Given the description of an element on the screen output the (x, y) to click on. 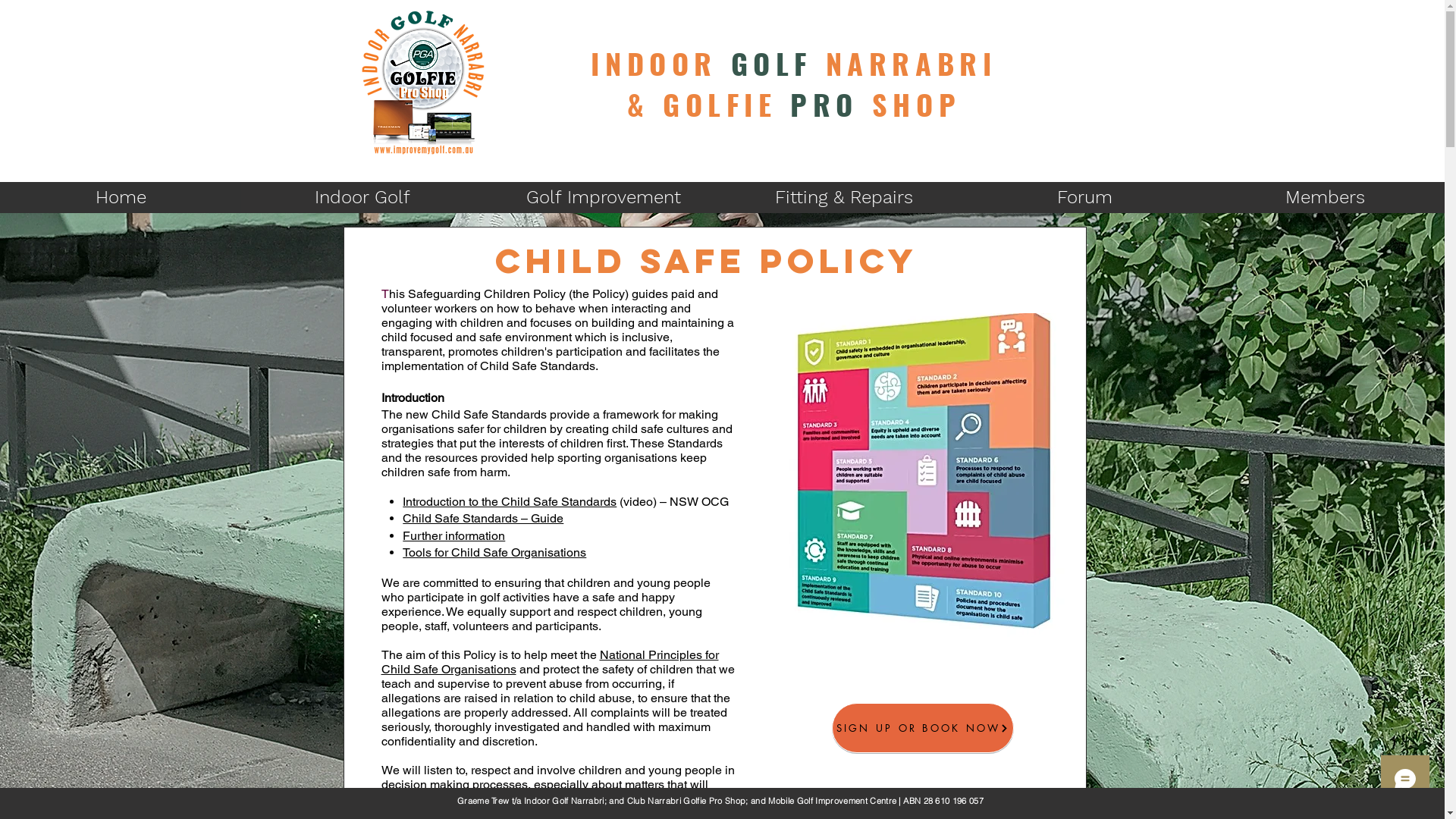
Members Element type: text (1324, 197)
Further information Element type: text (453, 535)
National Principles for Child Safe Organisations Element type: text (549, 661)
Introduction to the Child Safe Standards Element type: text (509, 501)
Tools for Child Safe Organisations Element type: text (494, 552)
Forum Element type: text (1083, 197)
SIGN UP OR BOOK NOW Element type: text (922, 727)
Home Element type: text (120, 197)
28 610 196 057 Element type: text (953, 800)
